Given the description of an element on the screen output the (x, y) to click on. 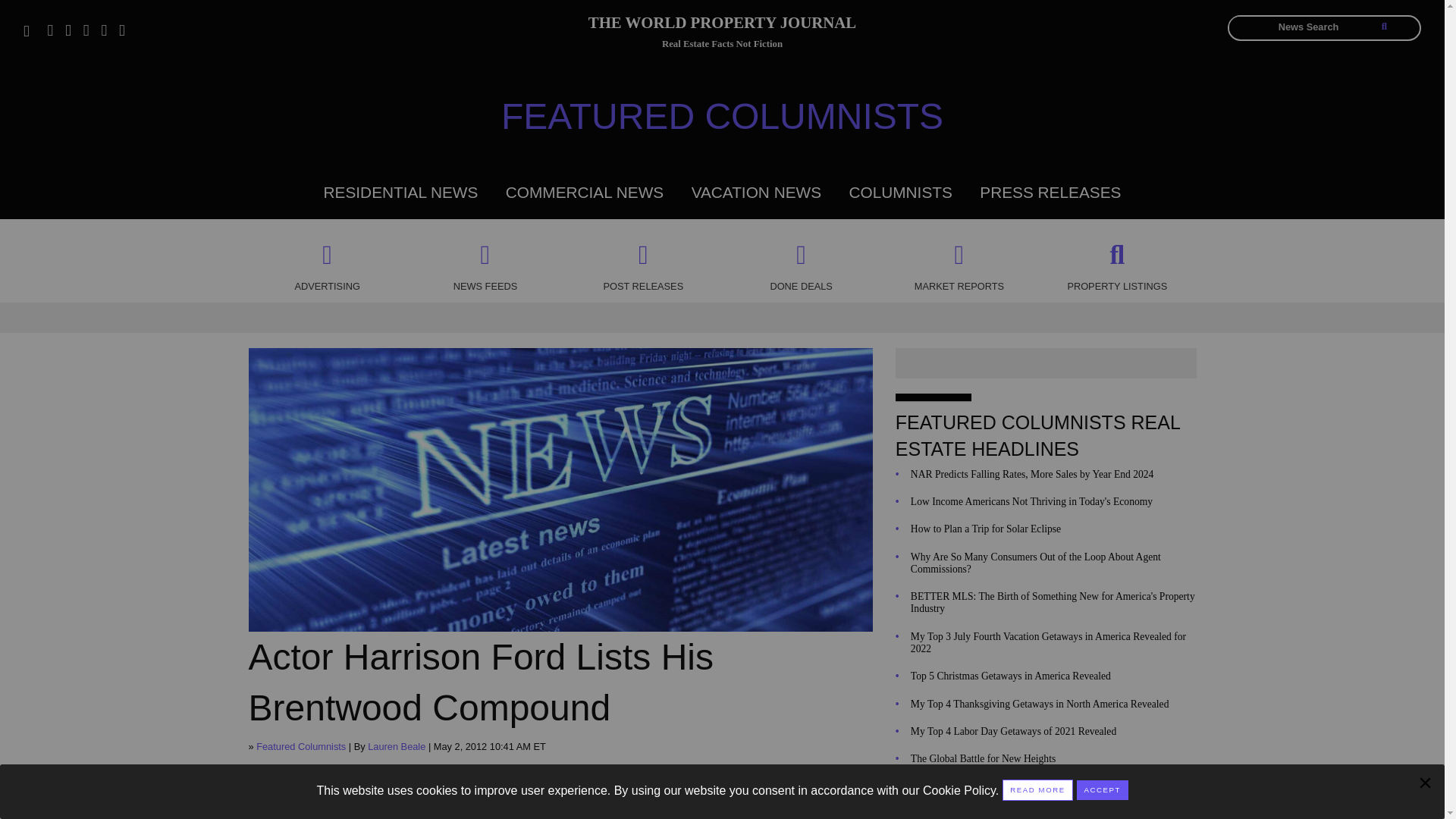
THE WORLD PROPERTY JOURNAL (721, 25)
COMMERCIAL NEWS (584, 191)
VACATION NEWS (756, 191)
RESIDENTIAL NEWS (401, 191)
PRESS RELEASES (1050, 191)
COLUMNISTS (900, 191)
